Given the description of an element on the screen output the (x, y) to click on. 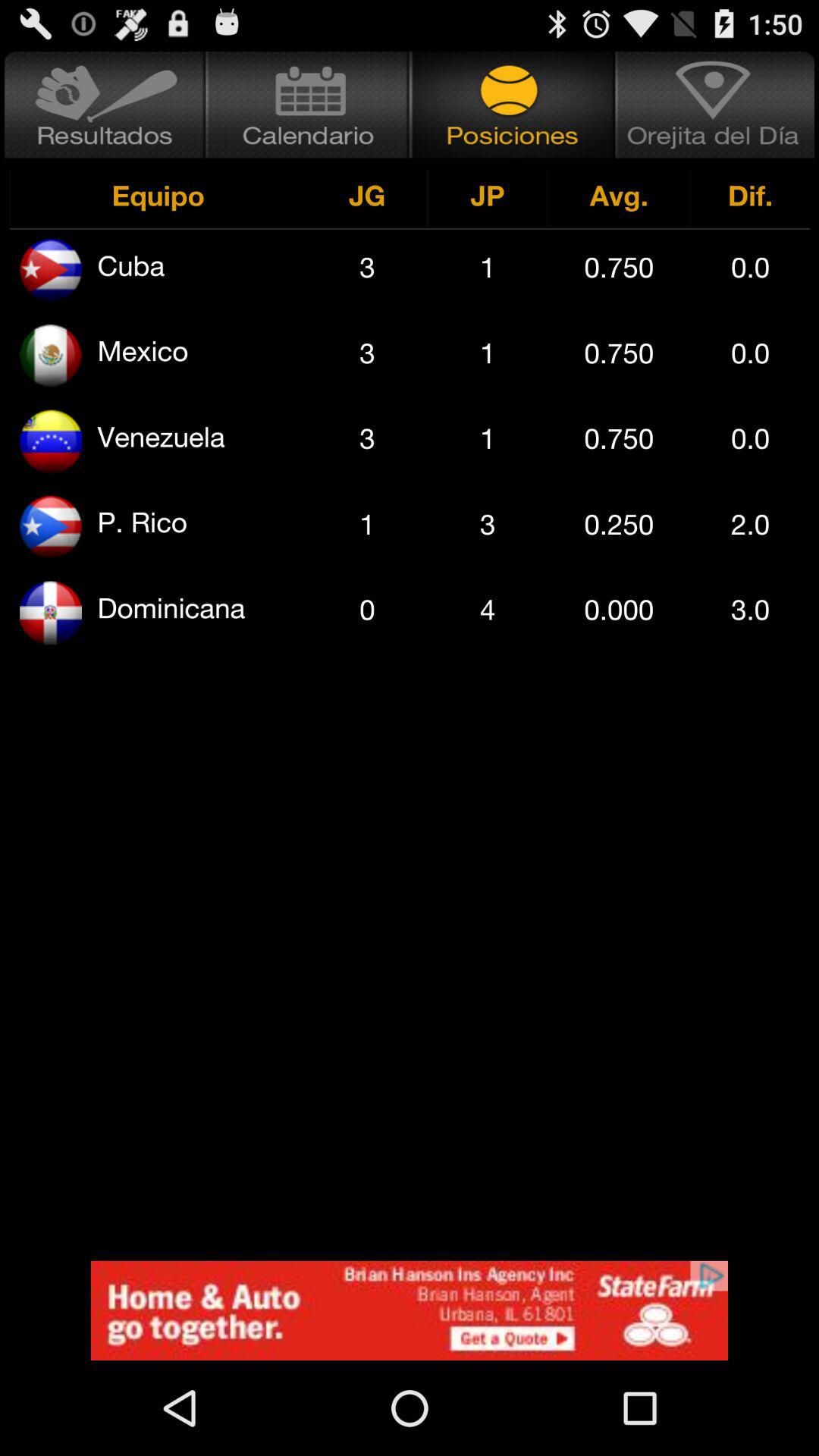
visualizar anncio (409, 1310)
